Given the description of an element on the screen output the (x, y) to click on. 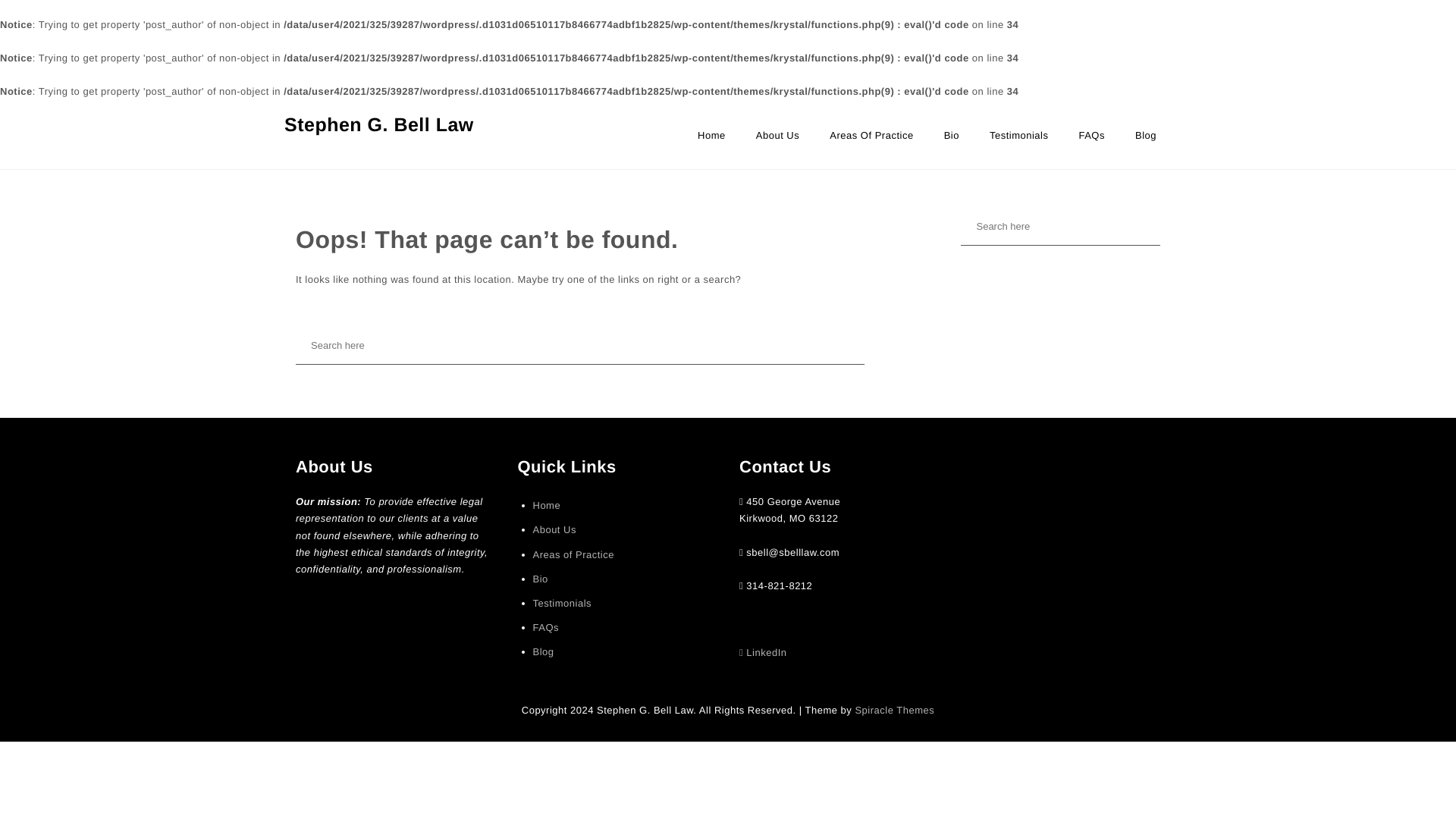
Stephen G. Bell Law (378, 125)
Spiracle Themes (894, 710)
About Us (777, 142)
FAQs (545, 627)
About Us (777, 142)
FAQs (1091, 142)
Testimonials (561, 603)
Blog (1145, 142)
Areas of Practice (573, 555)
Areas Of Practice (870, 142)
Home (711, 142)
Areas of Practice (870, 142)
About Us (553, 529)
Bio (539, 579)
